Given the description of an element on the screen output the (x, y) to click on. 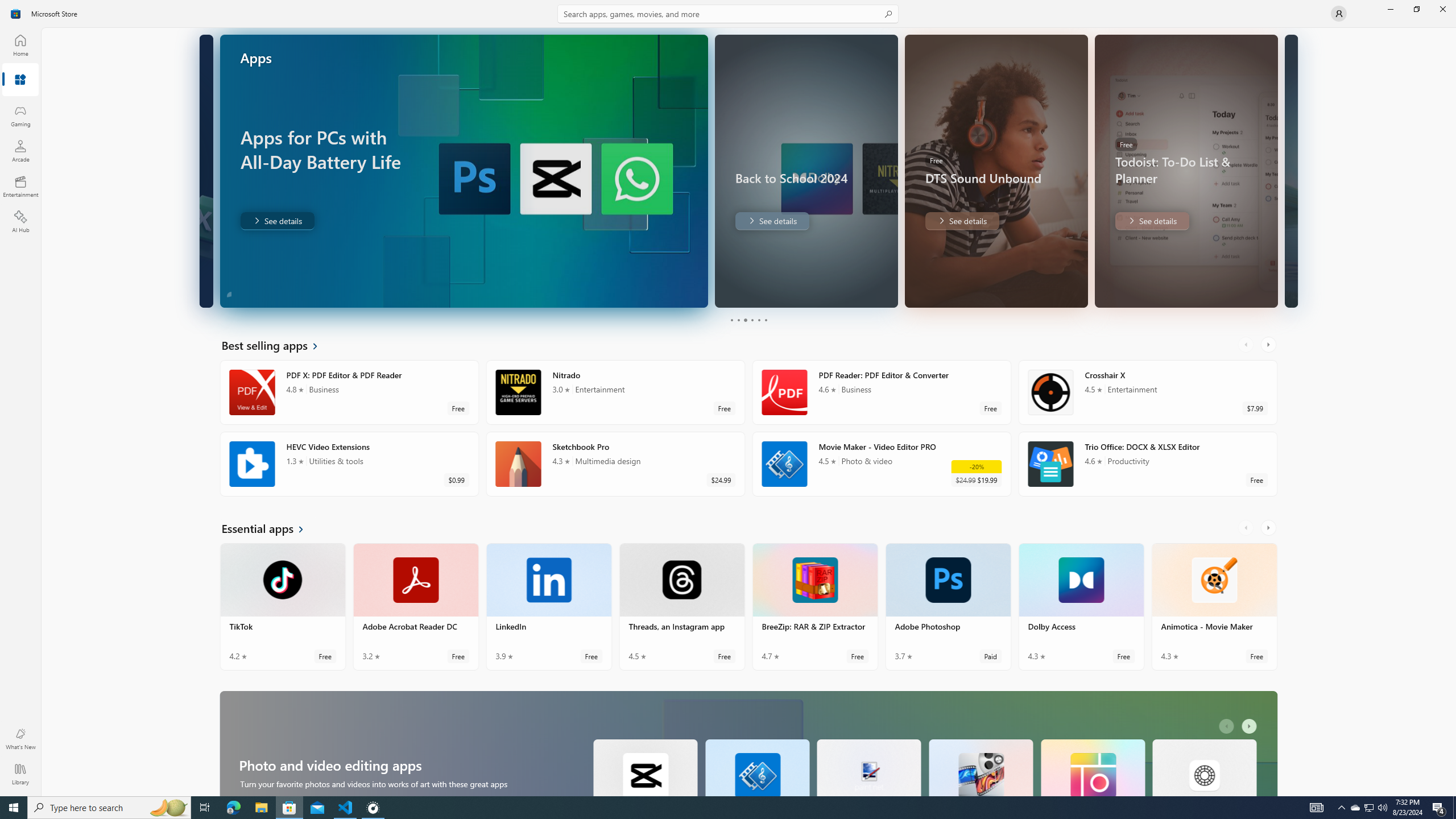
See all  Best selling apps (276, 345)
User profile (1338, 13)
AI Hub (20, 221)
Page 5 (758, 319)
AutomationID: RightScrollButton (1250, 726)
Minimize Microsoft Store (1390, 9)
LinkedIn. Average rating of 3.9 out of five stars. Free   (548, 606)
Close Microsoft Store (1442, 9)
Page 3 (744, 319)
Apps (20, 80)
